Given the description of an element on the screen output the (x, y) to click on. 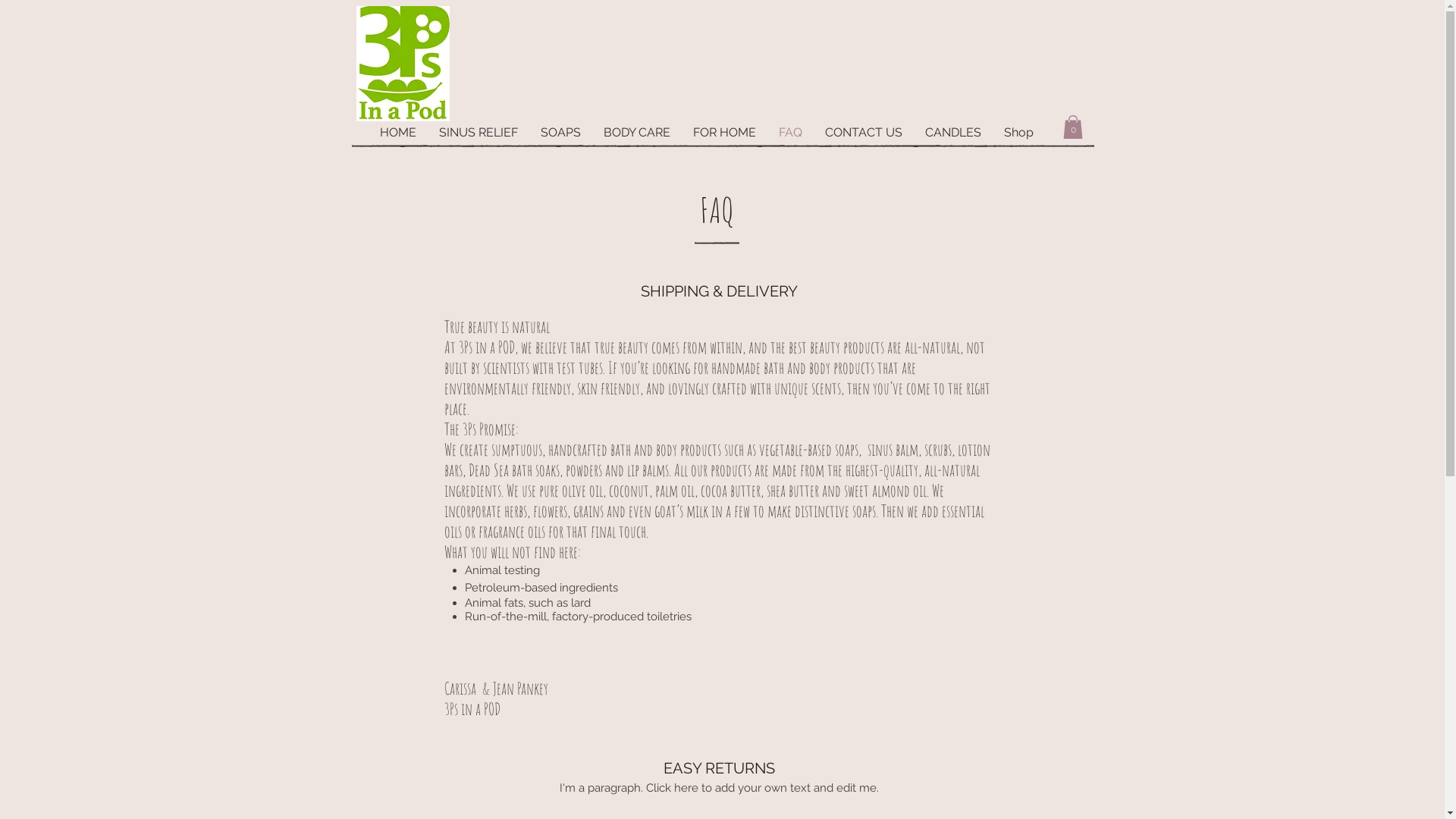
CONTACT US Element type: text (863, 132)
HOME Element type: text (397, 132)
CANDLES Element type: text (952, 132)
SOAPS Element type: text (560, 132)
SINUS RELIEF Element type: text (478, 132)
FAQ Element type: text (790, 132)
0 Element type: text (1072, 126)
Shop Element type: text (1018, 132)
FOR HOME Element type: text (724, 132)
BODY CARE Element type: text (636, 132)
